Given the description of an element on the screen output the (x, y) to click on. 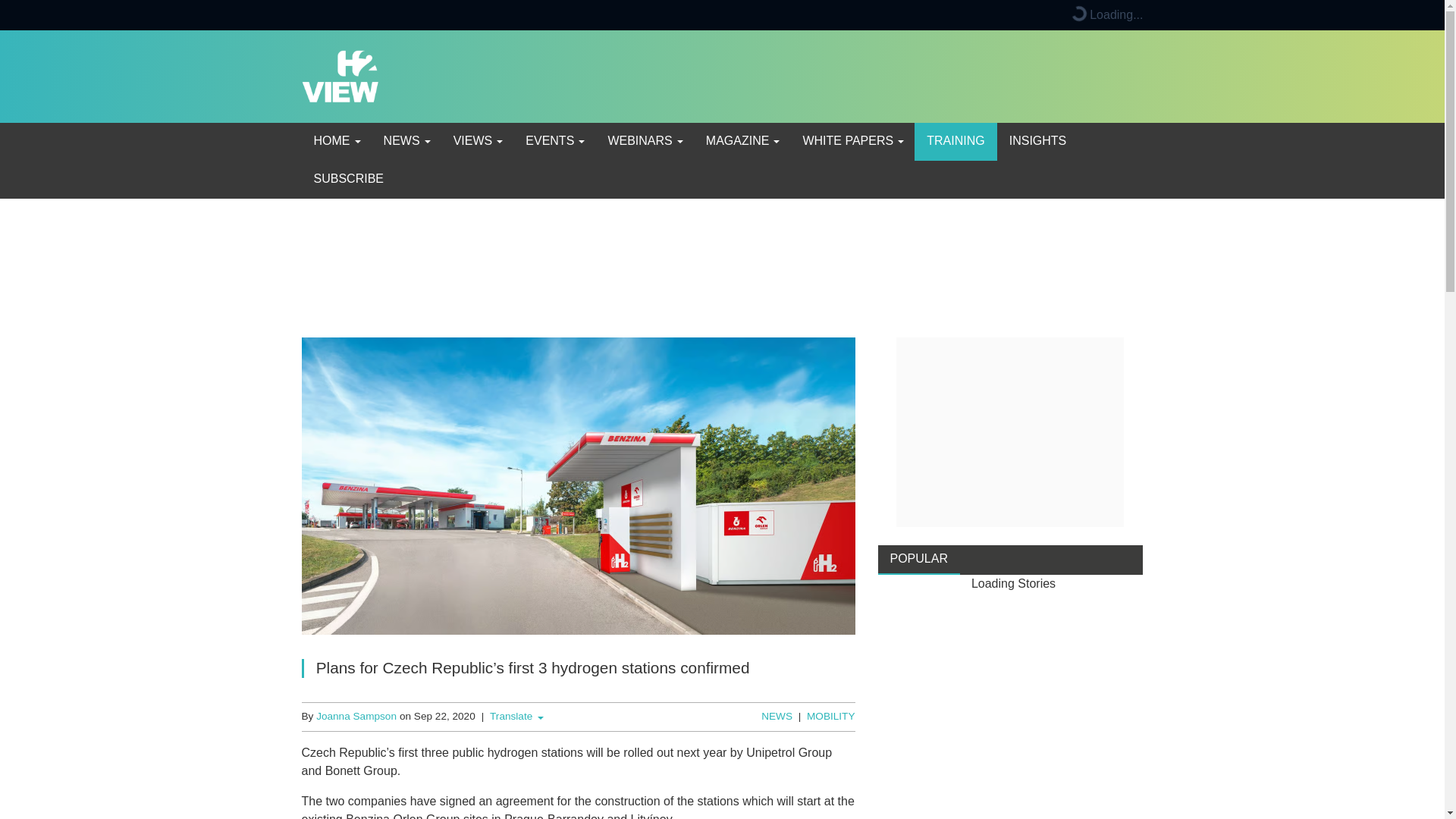
NEWS (406, 140)
VIEWS (477, 140)
HOME (336, 140)
News (406, 140)
Home (336, 140)
H2 View (339, 74)
